Given the description of an element on the screen output the (x, y) to click on. 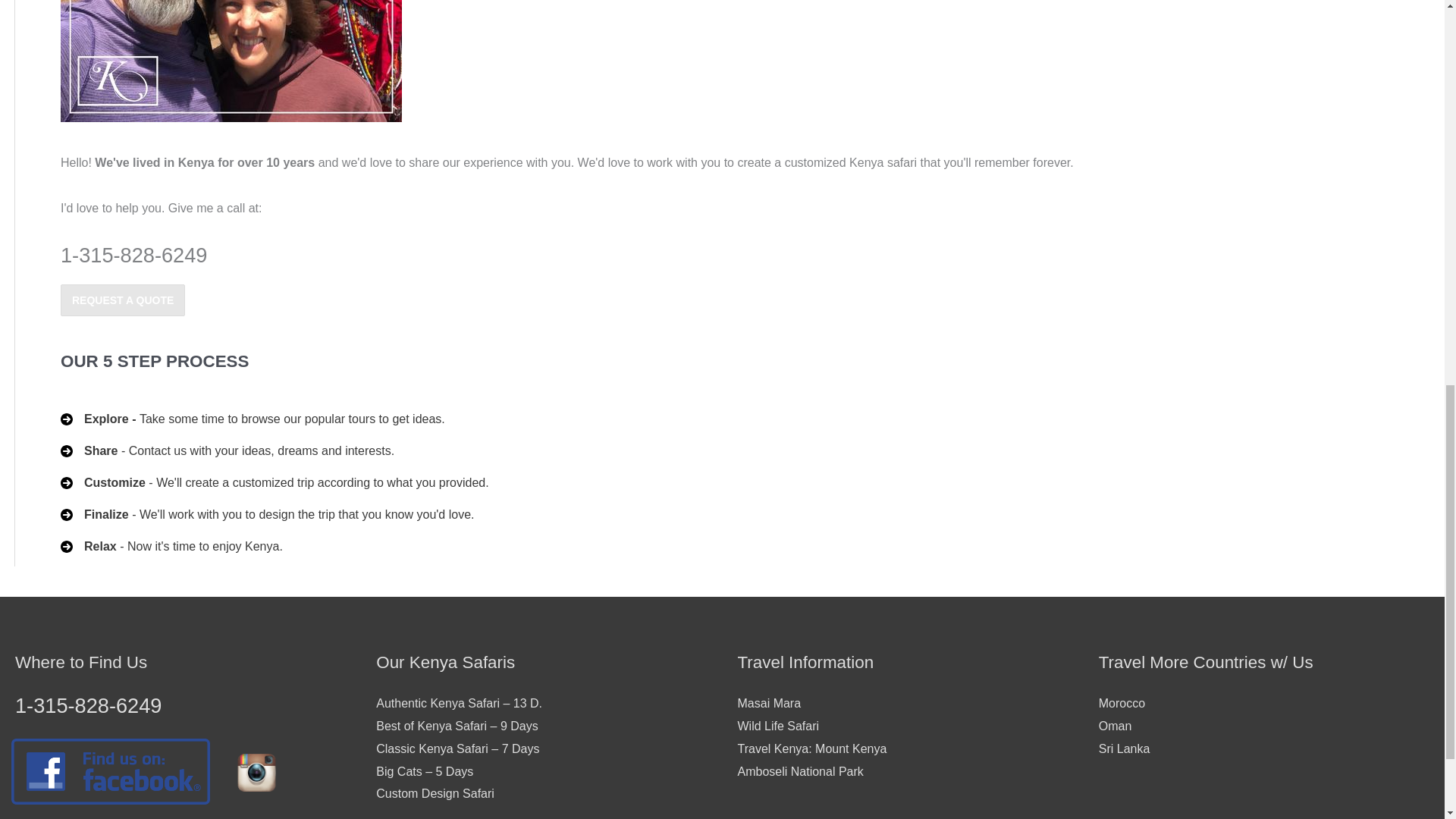
Sri Lanka (1124, 748)
Travel Kenya: Mount Kenya (811, 748)
Wild Life Safari (777, 725)
1-315-828-6249 (87, 705)
Oman (1115, 725)
Morocco (1121, 703)
Amboseli National Park (799, 771)
Custom Design Safari (435, 793)
Masai Mara (768, 703)
REQUEST A QUOTE (122, 300)
